Given the description of an element on the screen output the (x, y) to click on. 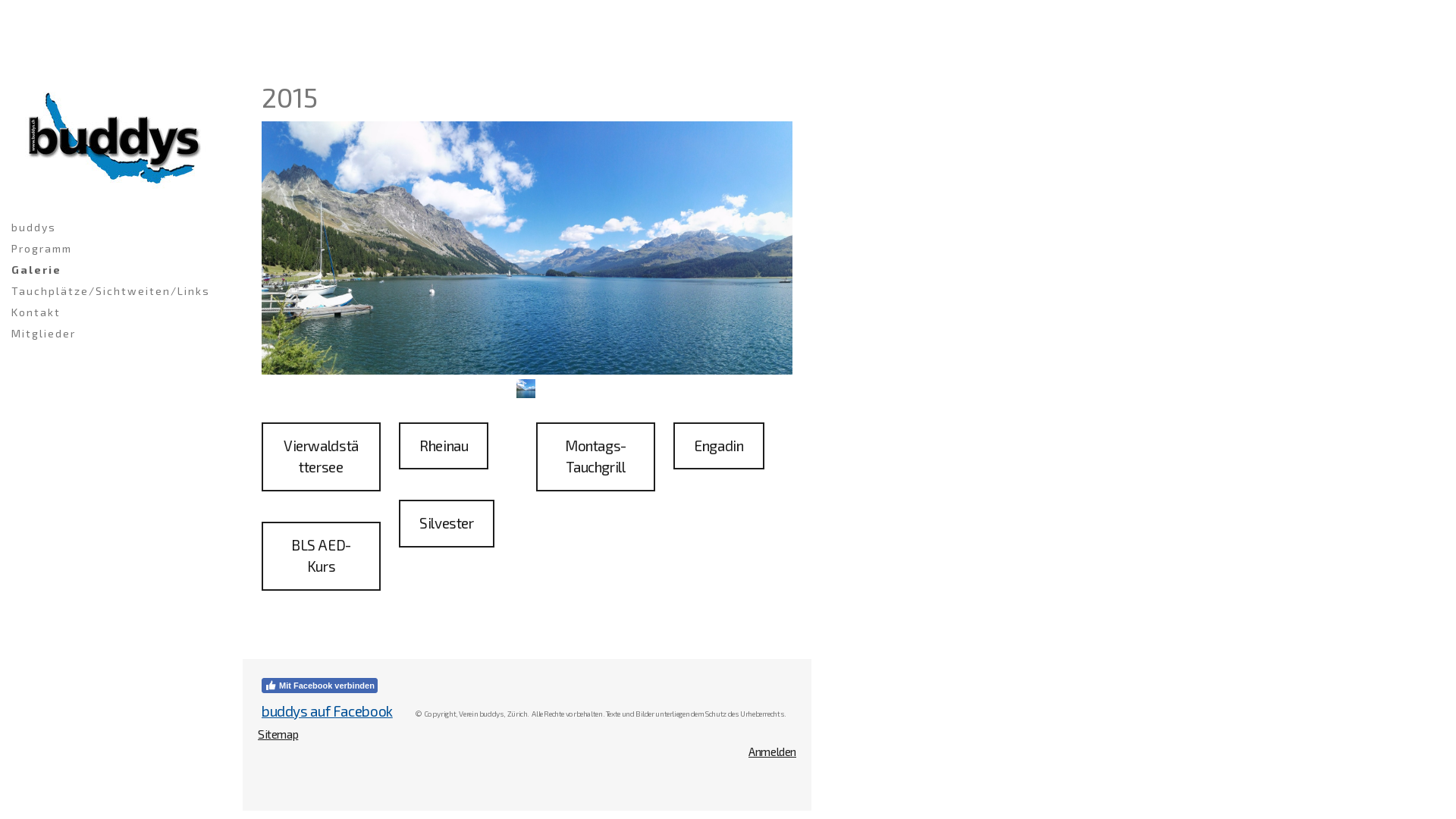
Montags-Tauchgrill Element type: text (595, 456)
Mitglieder Element type: text (113, 333)
Programm Element type: text (113, 248)
buddys auf Facebook Element type: text (326, 710)
buddys Element type: text (113, 227)
Anmelden Element type: text (772, 751)
Rheinau Element type: text (443, 446)
Engadin Element type: text (718, 446)
Silvester Element type: text (446, 523)
Sitemap Element type: text (277, 733)
Mit Facebook verbinden Element type: text (319, 685)
BLS AED-Kurs Element type: text (320, 555)
Galerie Element type: text (113, 269)
Kontakt Element type: text (113, 312)
